Given the description of an element on the screen output the (x, y) to click on. 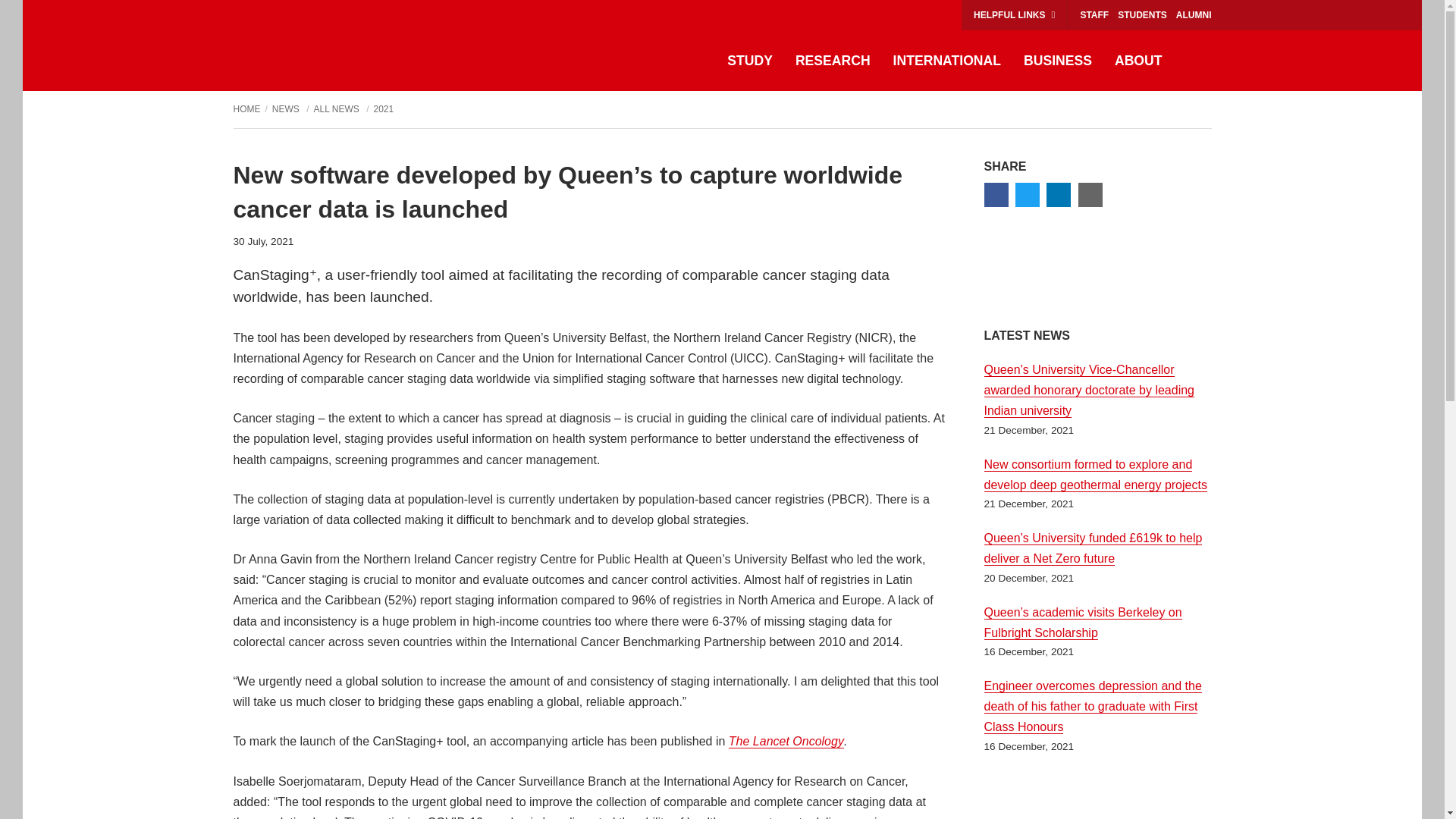
ALUMNI (1193, 15)
Queen's University Belfast (306, 45)
RESEARCH (833, 60)
HELPFUL LINKS (1013, 15)
STUDENTS (1142, 15)
SKIP TO CONTENT (40, 15)
STAFF (1094, 15)
STUDY (750, 60)
